Given the description of an element on the screen output the (x, y) to click on. 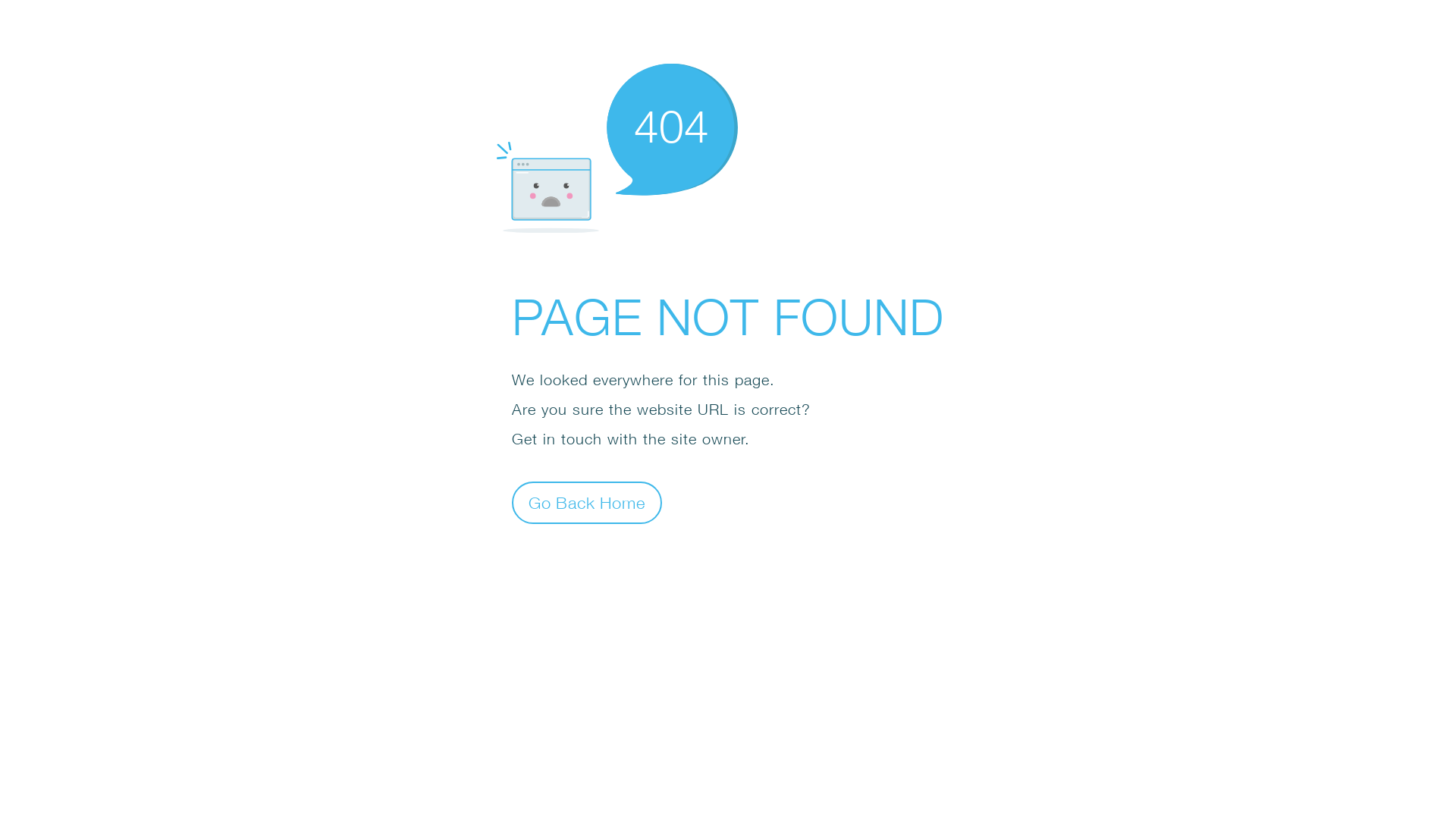
Go Back Home Element type: text (586, 502)
